Given the description of an element on the screen output the (x, y) to click on. 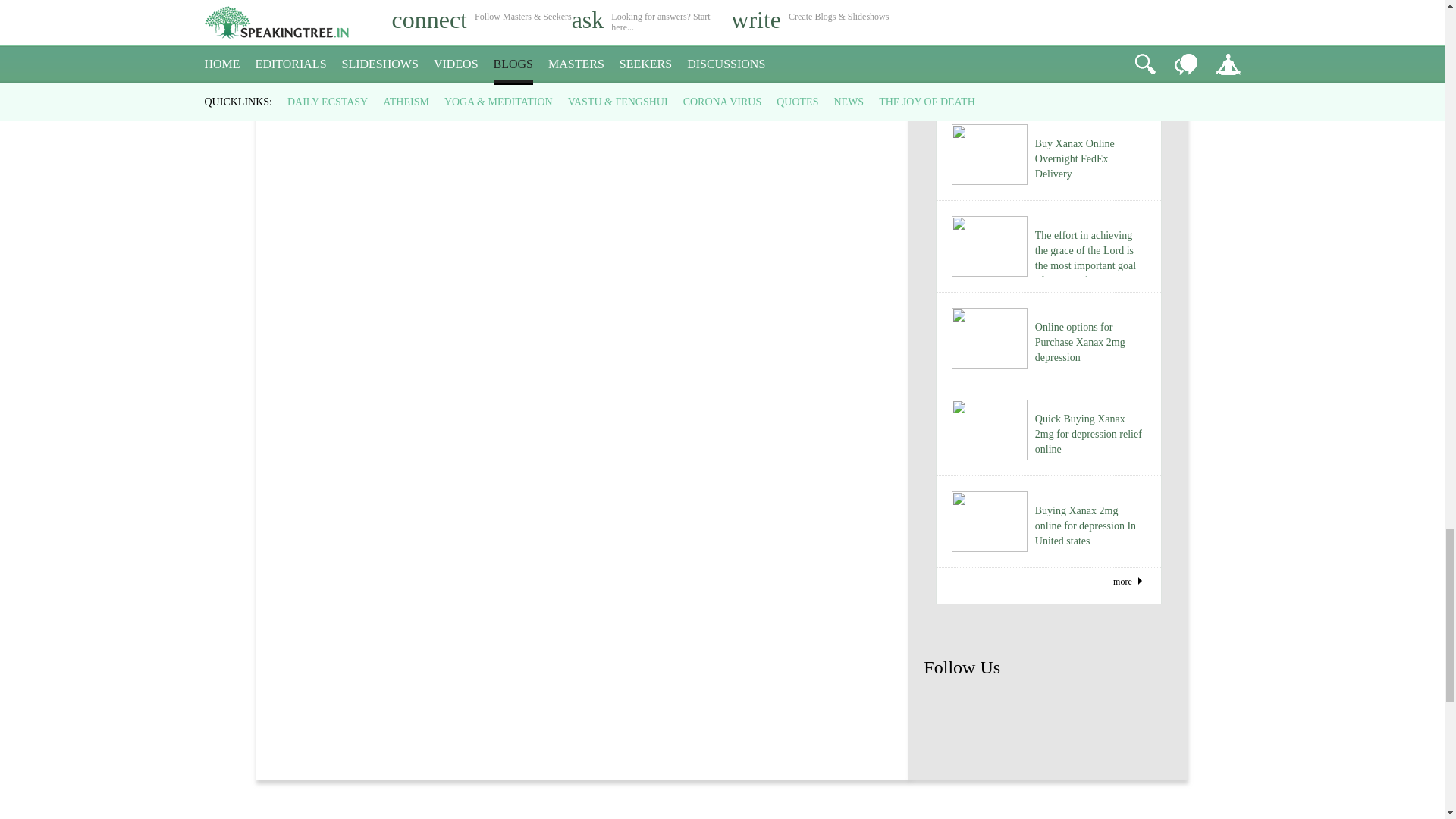
Speaking Tree FaceBook (948, 712)
Speaking Tree FaceBook (998, 712)
Speaking Tree FaceBook (1147, 712)
Speaking Tree FaceBook (1048, 712)
Speaking Tree FaceBook (1099, 712)
